Given the description of an element on the screen output the (x, y) to click on. 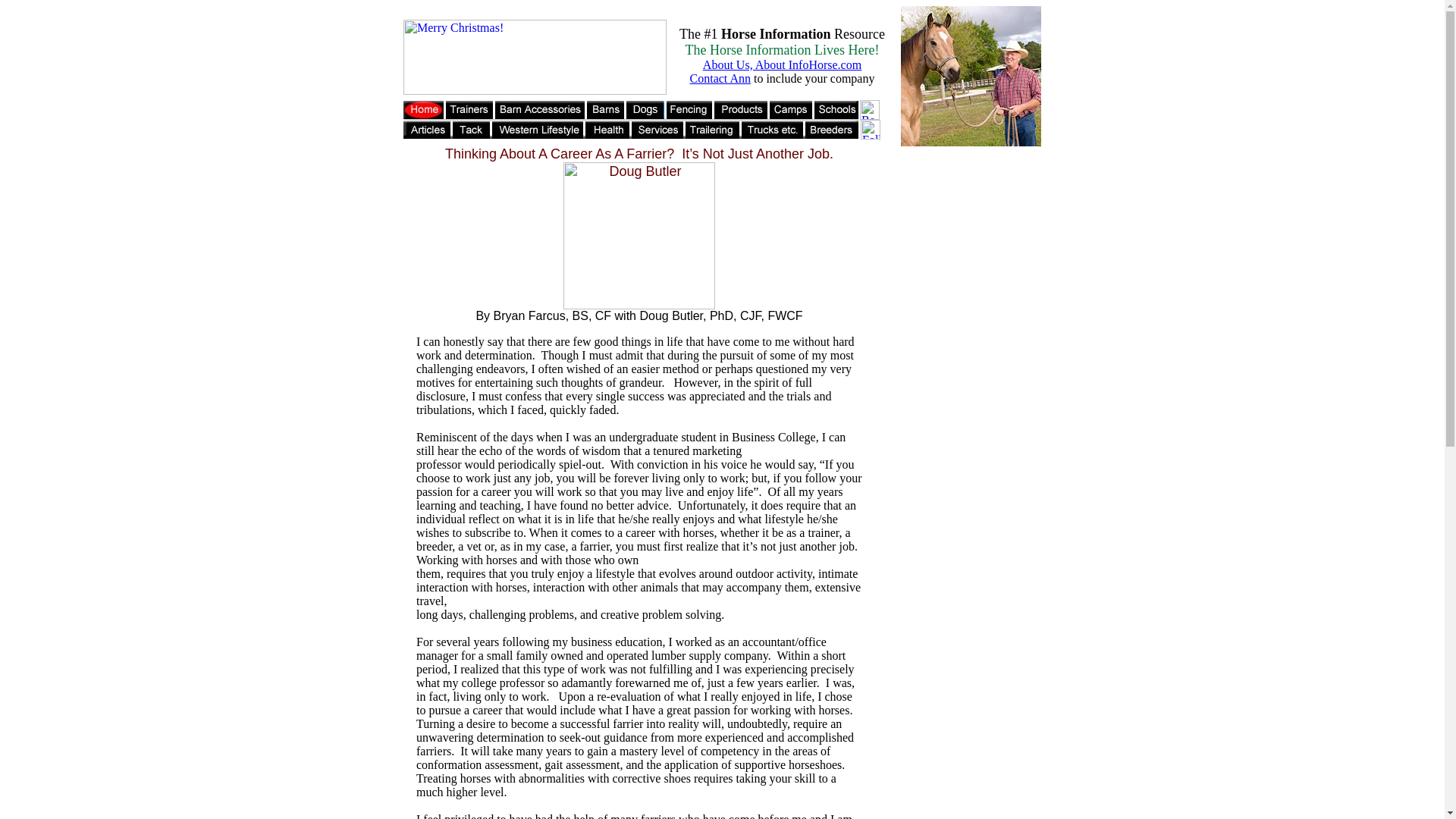
Doug Butler (638, 235)
Follow us on Twitter (870, 129)
Bob Pruitt  CEO InfoHorse.com and DREAM! (971, 75)
Be a Fan on Facebook (869, 109)
Merry Christmas!  (534, 57)
About Us, About InfoHorse.com (782, 64)
Contact Ann (720, 78)
navbuttons12 (631, 119)
